Given the description of an element on the screen output the (x, y) to click on. 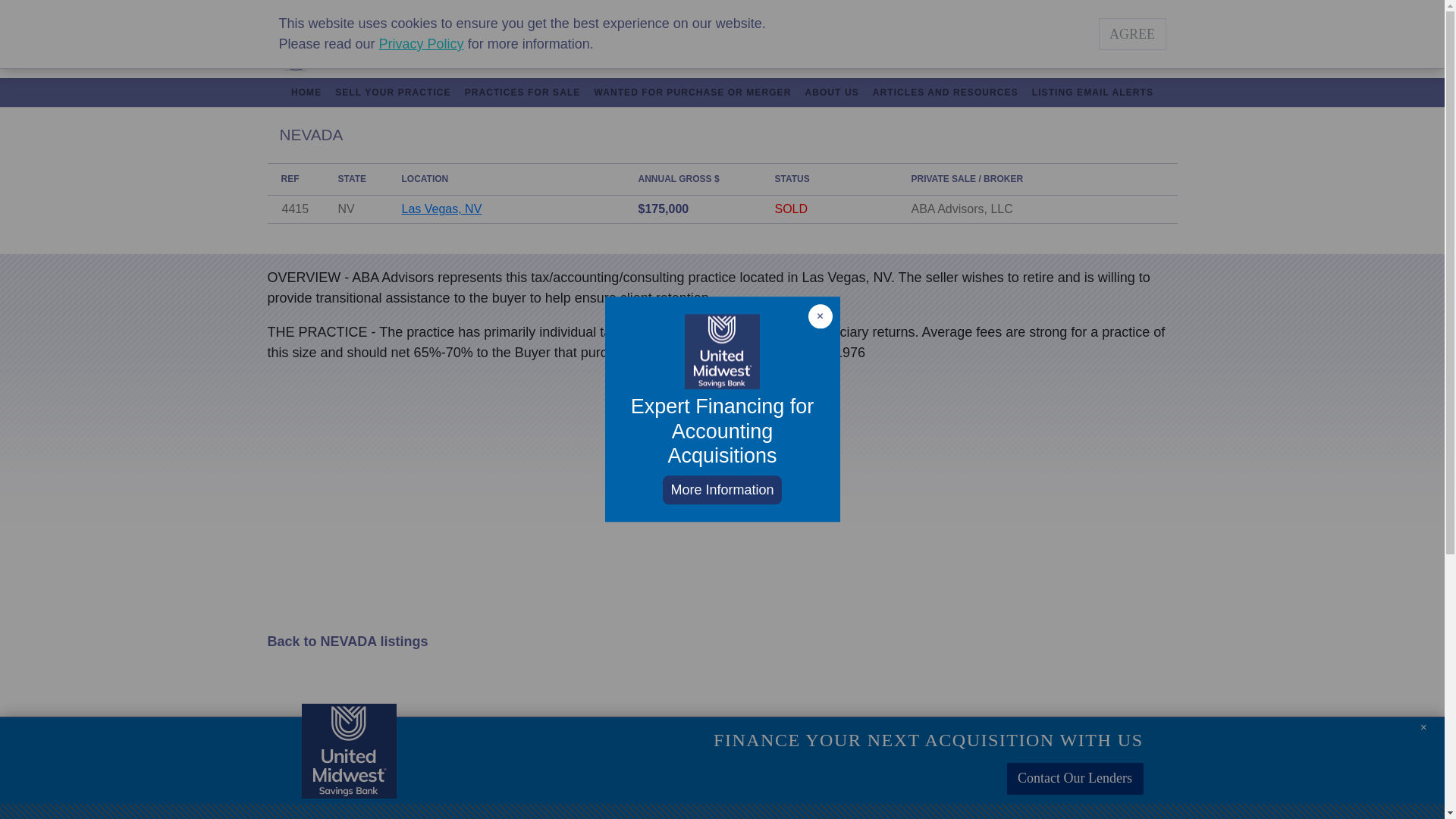
Contact Page (709, 9)
SELL YOUR PRACTICE (393, 92)
HOME (306, 92)
ARTICLES AND RESOURCES (945, 92)
AGREE (1131, 34)
ABOUT US (830, 92)
Brokers Page (1010, 9)
Advertise (798, 9)
PRACTICES FOR SALE (523, 92)
Sign-Up Page (1144, 9)
Confidentiality Page (901, 9)
LISTING EMAIL ALERTS (1092, 92)
WANTED FOR PURCHASE OR MERGER (691, 92)
Contact Our Lenders (1074, 778)
Privacy Policy (421, 43)
